Given the description of an element on the screen output the (x, y) to click on. 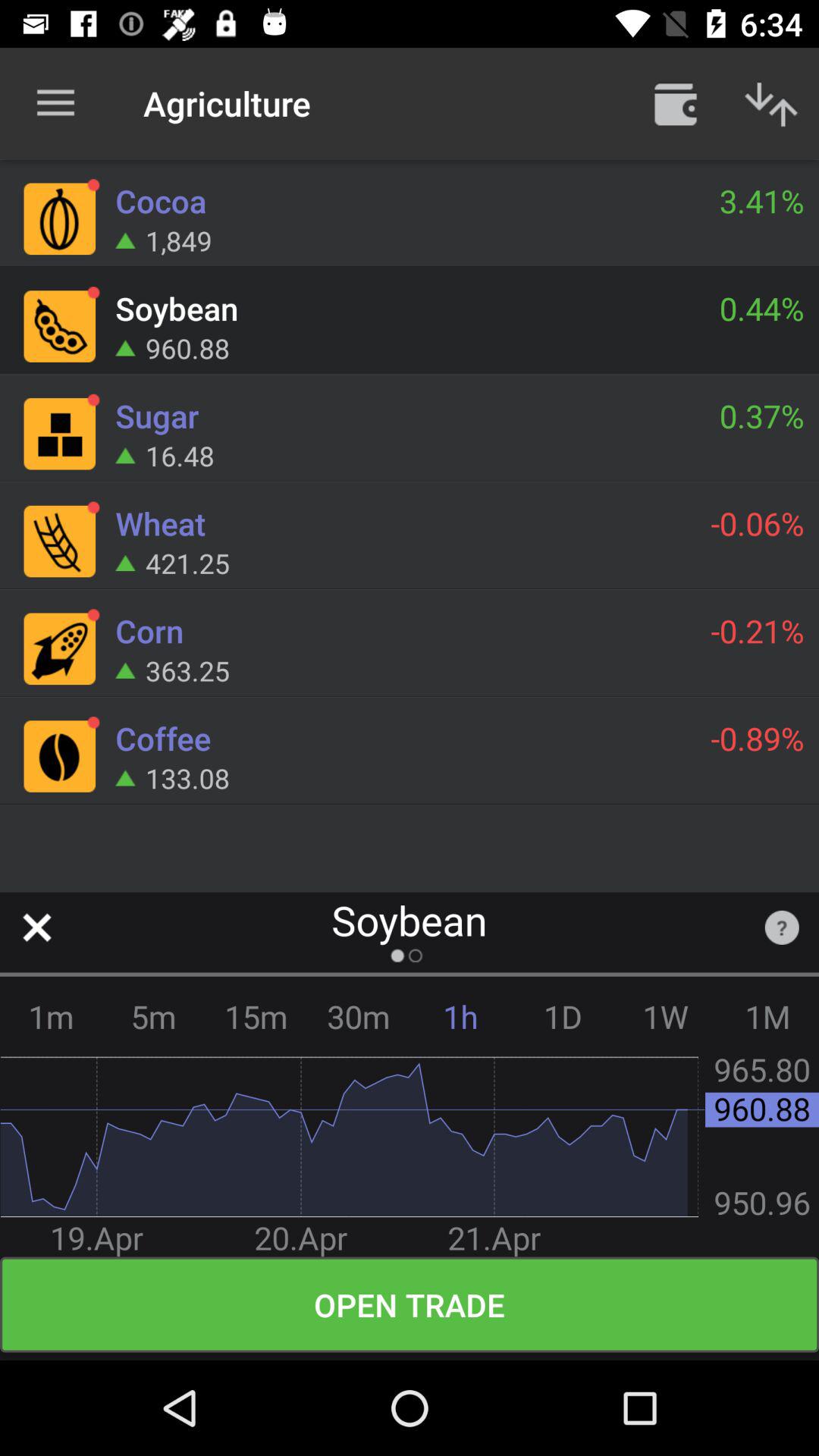
tap icon to the left of the 1h (358, 1016)
